Given the description of an element on the screen output the (x, y) to click on. 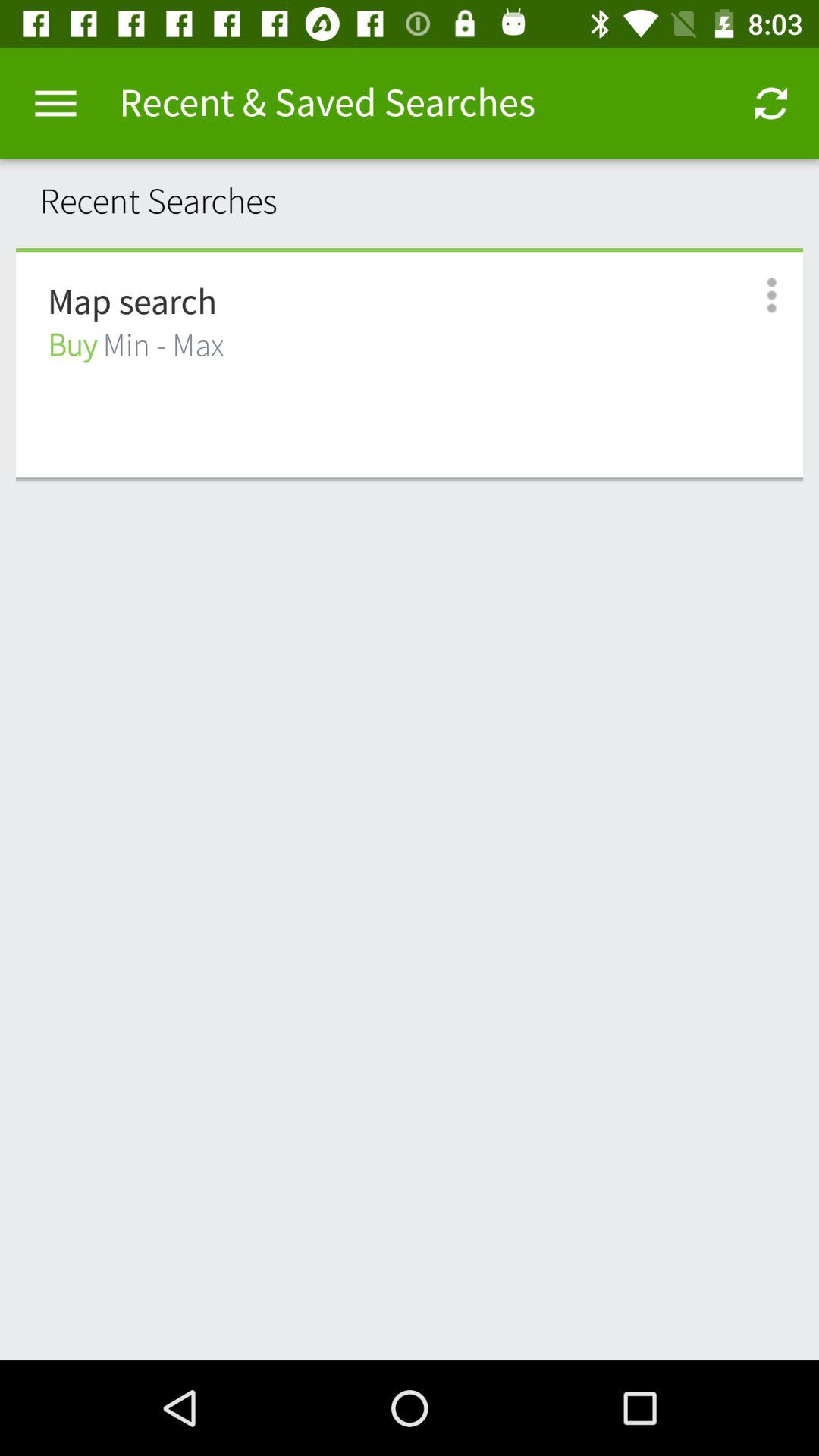
swipe to buy min - max item (135, 345)
